Given the description of an element on the screen output the (x, y) to click on. 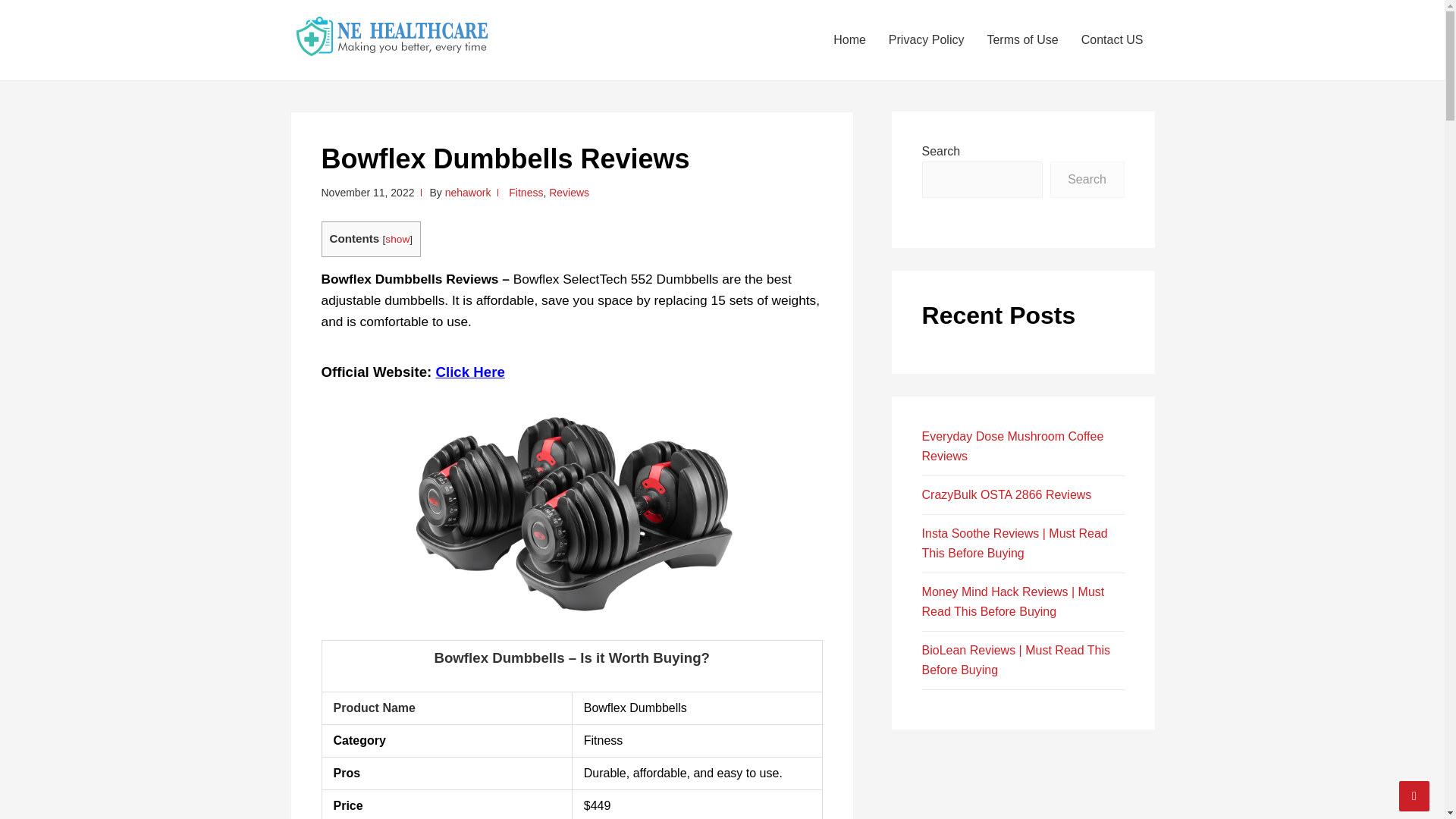
View all posts by nehawork (468, 192)
Fitness (525, 192)
Home (849, 39)
Privacy Policy (926, 39)
show (397, 238)
Bowflex Dumbbells Reviews 1 (571, 505)
CrazyBulk OSTA 2866 Reviews (1006, 494)
Contact US (1112, 39)
nehawork (468, 192)
Terms of Use (1021, 39)
Everyday Dose Mushroom Coffee Reviews (1012, 445)
Search (1086, 179)
Reviews (568, 192)
